Given the description of an element on the screen output the (x, y) to click on. 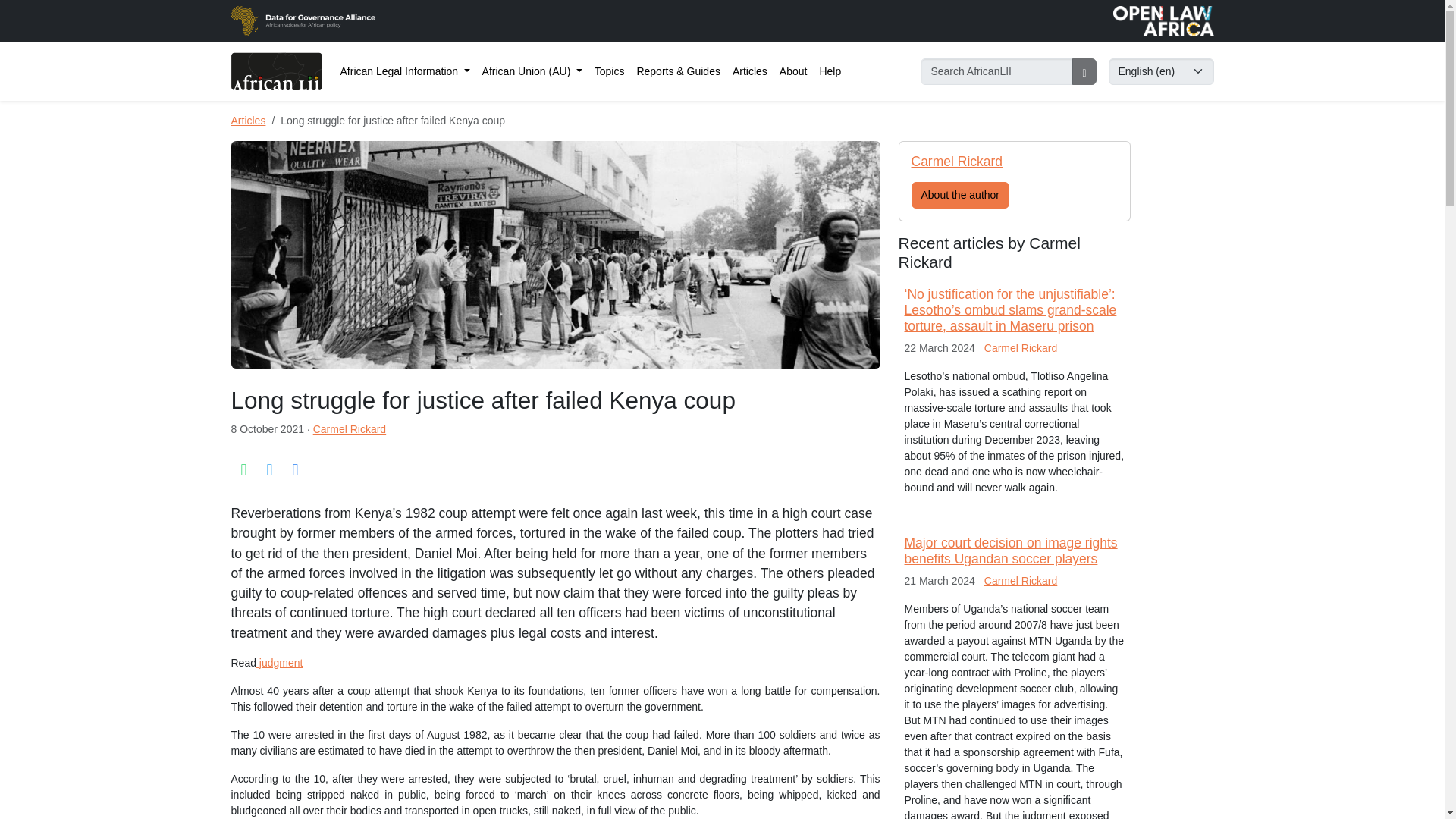
Topics (609, 71)
Carmel Rickard (957, 160)
Carmel Rickard (1020, 580)
Carmel Rickard (1020, 347)
Help (829, 71)
About (793, 71)
African Legal Information (404, 71)
About the author (960, 194)
 judgment (279, 662)
Articles (247, 120)
Articles (749, 71)
Carmel Rickard (349, 428)
